Given the description of an element on the screen output the (x, y) to click on. 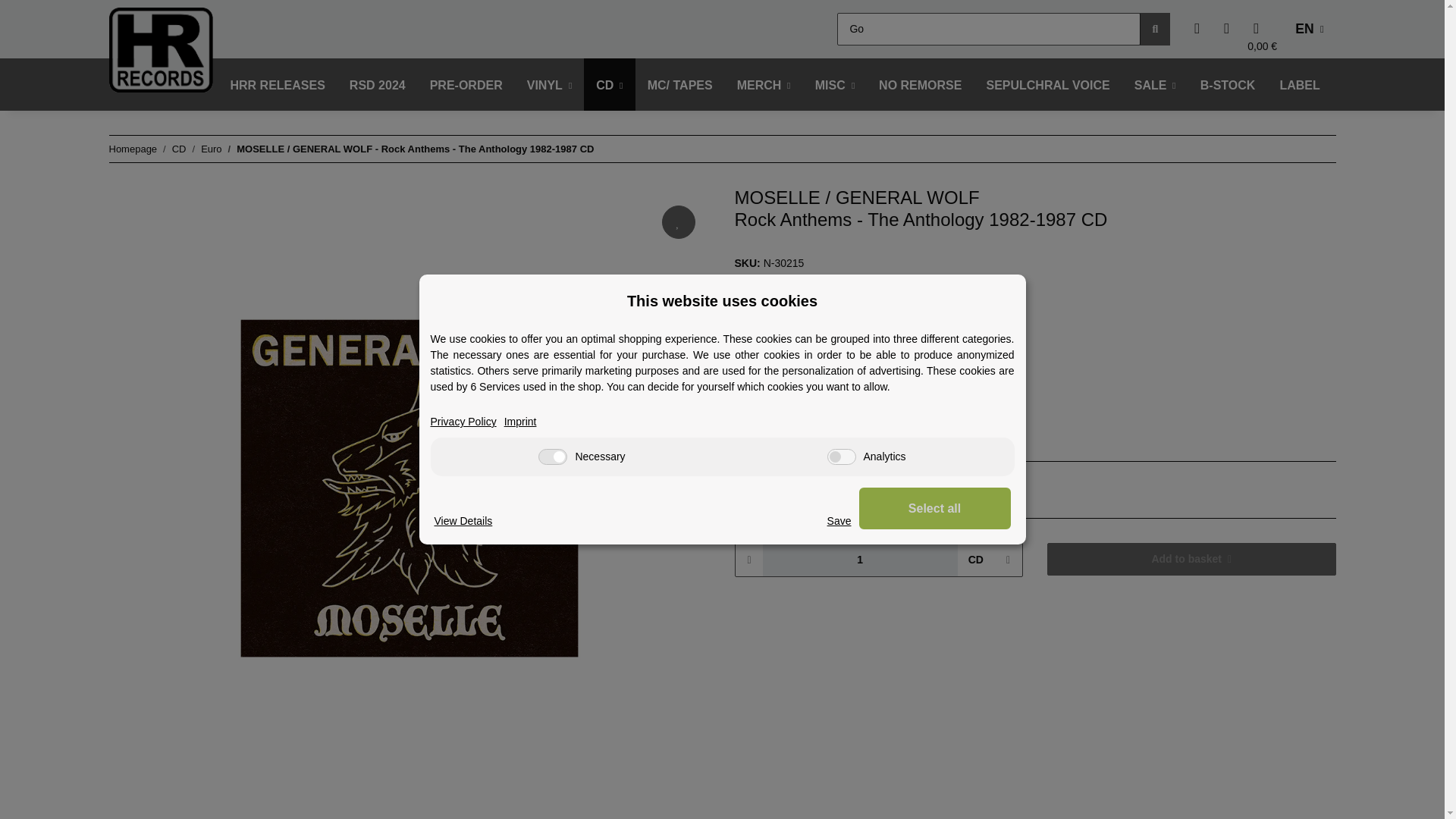
RSD 2024 (377, 85)
RSD 2024 (377, 85)
PRE-ORDER (466, 85)
High Roller Records - OnlineShop (160, 49)
VINYL (550, 85)
NO REMORSE (920, 85)
on (552, 456)
RSD 2024 (377, 85)
SALE (1155, 85)
CD (608, 85)
B-STOCK (1228, 85)
EN (1308, 28)
HRR RELEASES (277, 85)
VINYL (550, 85)
SEPULCHRAL VOICE (1047, 85)
